Given the description of an element on the screen output the (x, y) to click on. 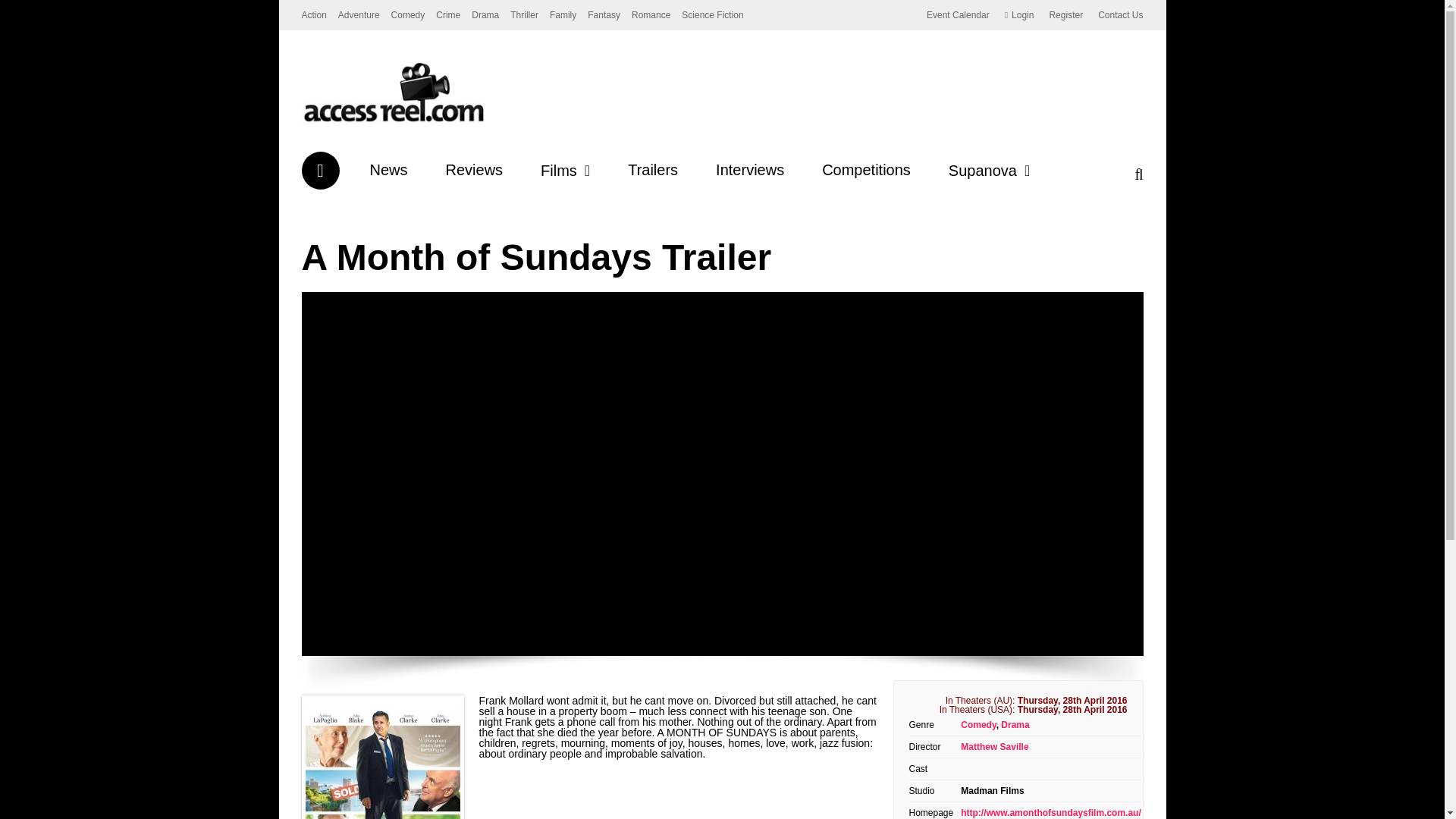
Comedy (408, 15)
Romance (650, 15)
Event Calendar (958, 15)
Fantasy (604, 15)
Accessreel.com (392, 122)
Adventure (358, 15)
Drama (485, 15)
Thriller (524, 15)
Science Fiction (711, 15)
